Given the description of an element on the screen output the (x, y) to click on. 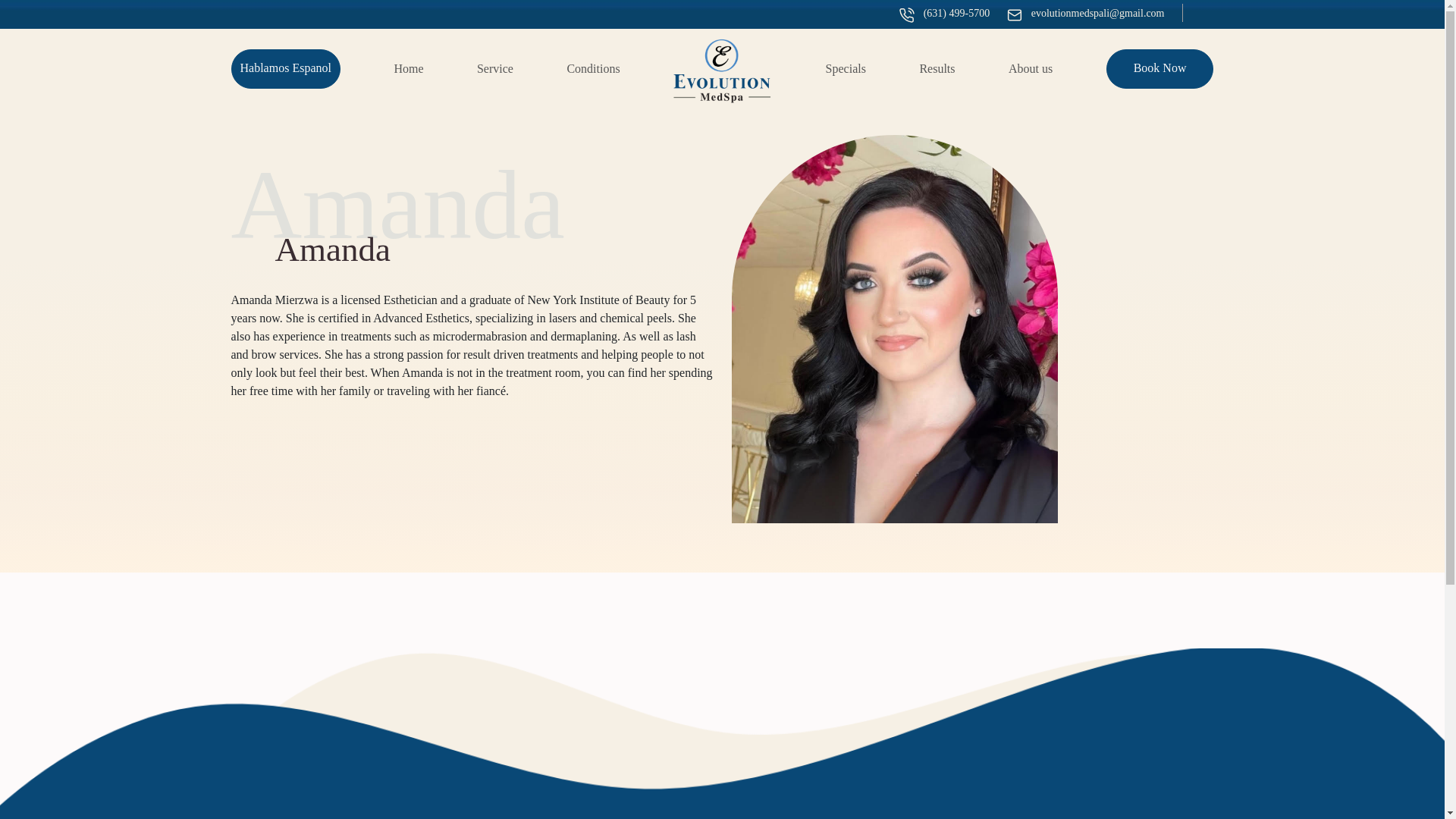
Home (408, 68)
Hablamos Espanol (285, 68)
Service (495, 68)
Conditions (593, 68)
